Given the description of an element on the screen output the (x, y) to click on. 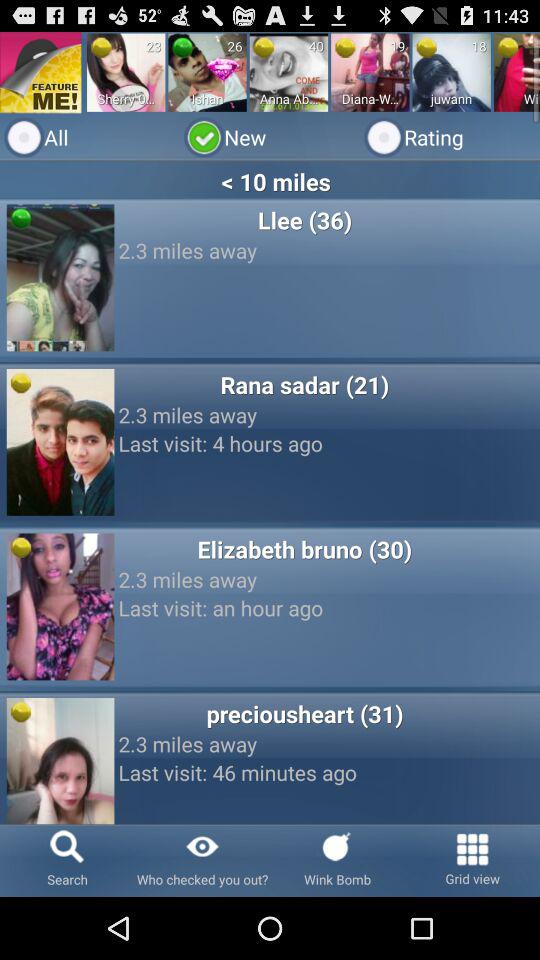
turn off search (67, 860)
